Given the description of an element on the screen output the (x, y) to click on. 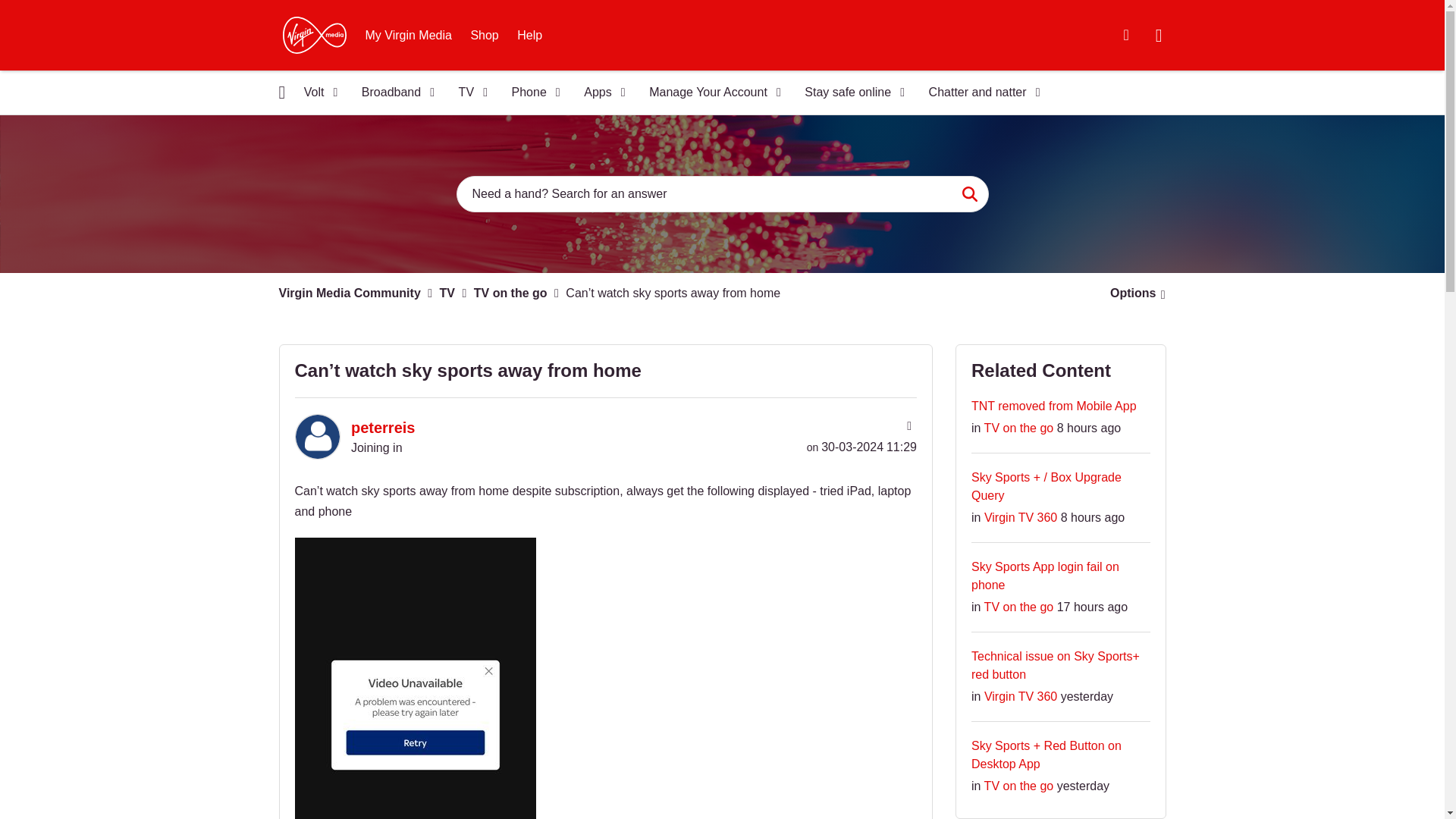
Help (529, 34)
Search (969, 193)
peterreis (316, 436)
TV (468, 92)
Phone (531, 92)
My Virgin Media (409, 34)
Broadband (392, 92)
Virgin Media (314, 35)
Stay safe online (849, 92)
Search (969, 193)
